Given the description of an element on the screen output the (x, y) to click on. 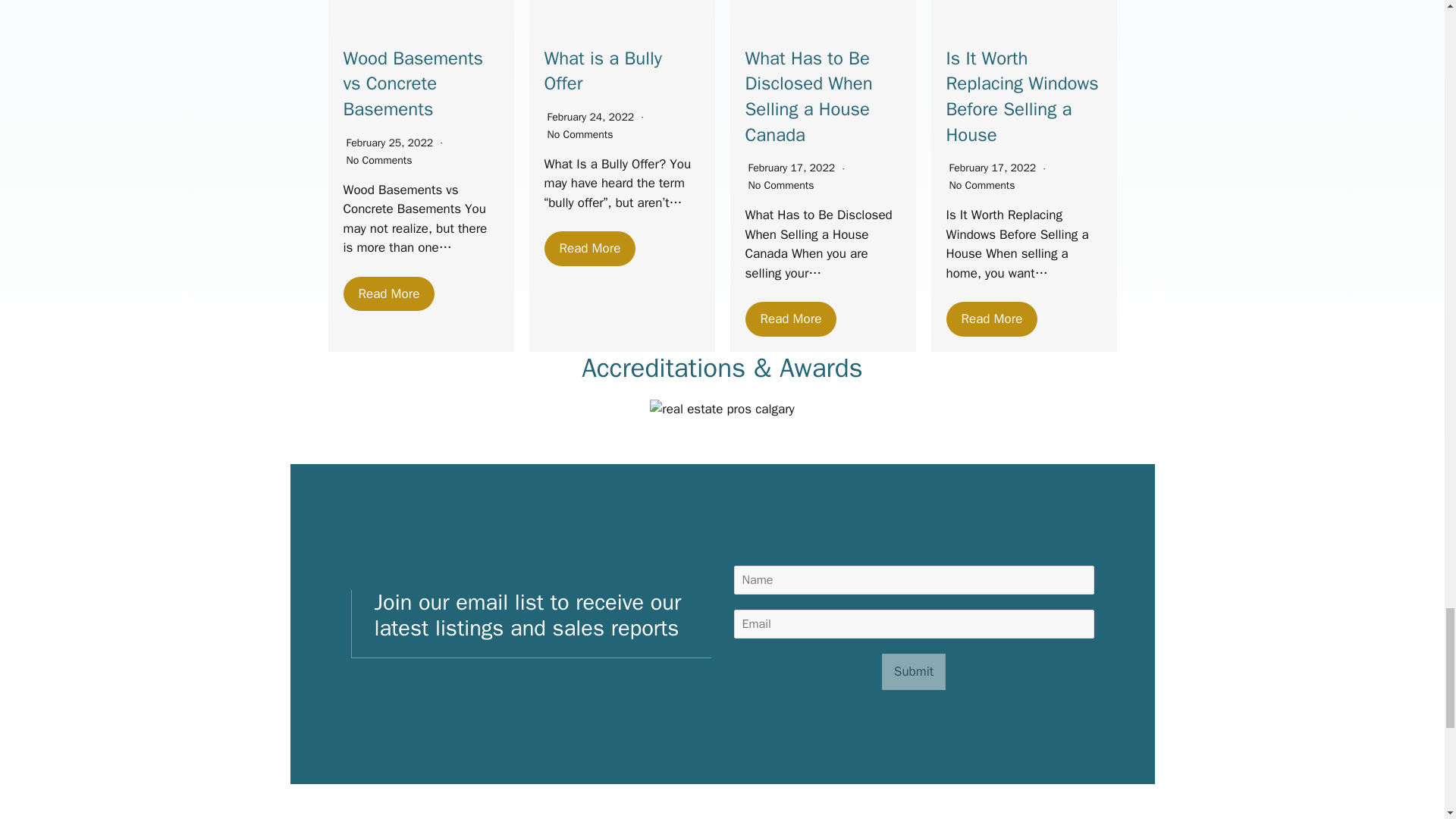
Read More (387, 294)
Read More (992, 319)
Wood Basements vs Concrete Basements (412, 83)
What Has to Be Disclosed When Selling a House Canada (808, 96)
Read More (789, 319)
Submit (913, 671)
What is a Bully Offer (603, 70)
Is It Worth Replacing Windows Before Selling a House (1022, 96)
Read More (590, 248)
